Given the description of an element on the screen output the (x, y) to click on. 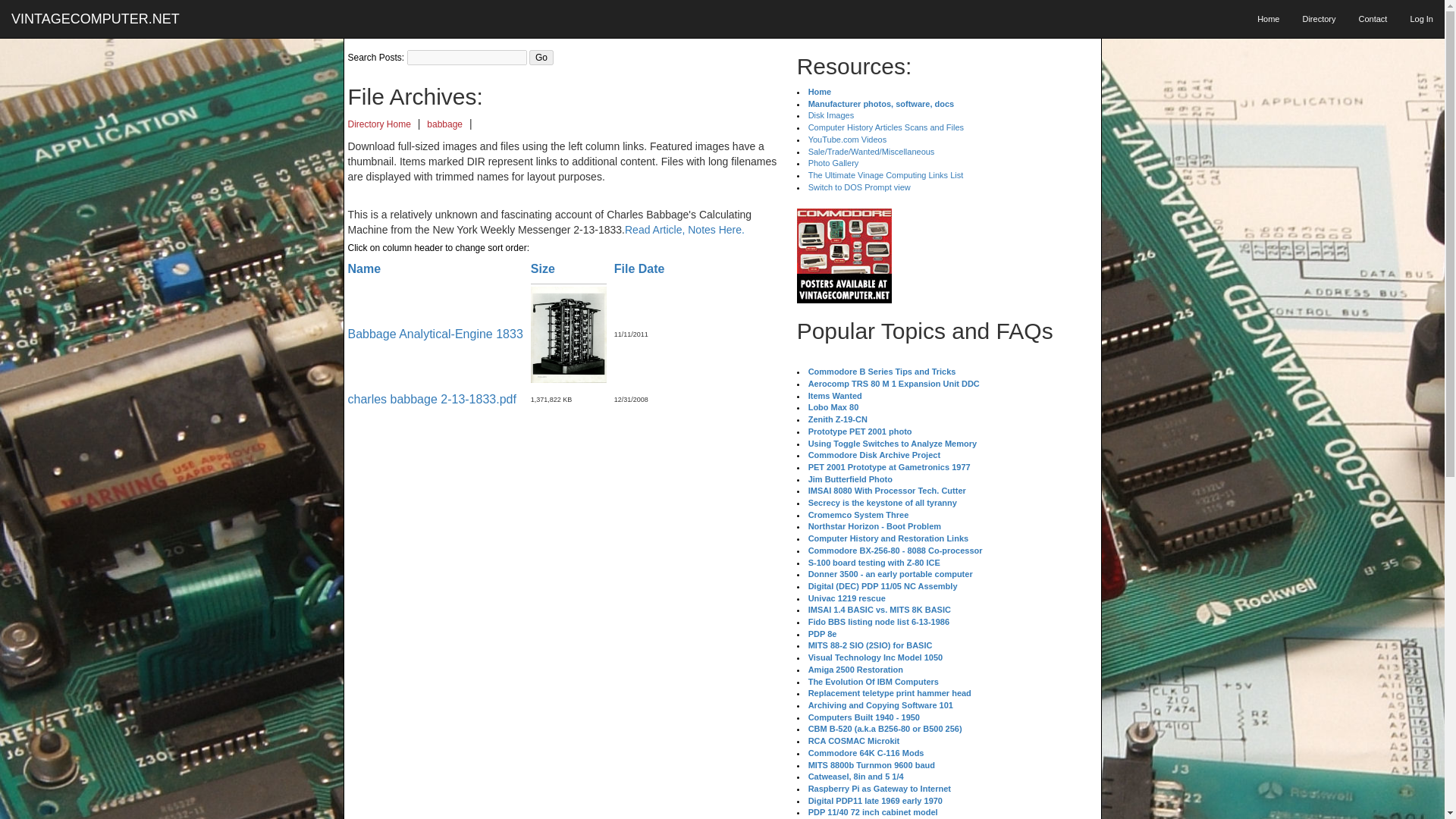
Secrecy is the keystone of all tyranny (882, 501)
Switch to DOS Prompt view (859, 186)
Sort By Name (363, 268)
Size (542, 268)
Jim Butterfield Photo (850, 479)
The Ultimate Vinage Computing Links List (885, 174)
YouTube.com Videos (847, 139)
Lobo Max 80 (833, 406)
Cromemco System Three (858, 514)
Home (819, 91)
Aerocomp TRS 80 M 1 Expansion Unit DDC (893, 383)
Home (1268, 18)
VINTAGECOMPUTER.NET (100, 18)
Prototype PET 2001 photo (860, 430)
babbage (444, 124)
